Given the description of an element on the screen output the (x, y) to click on. 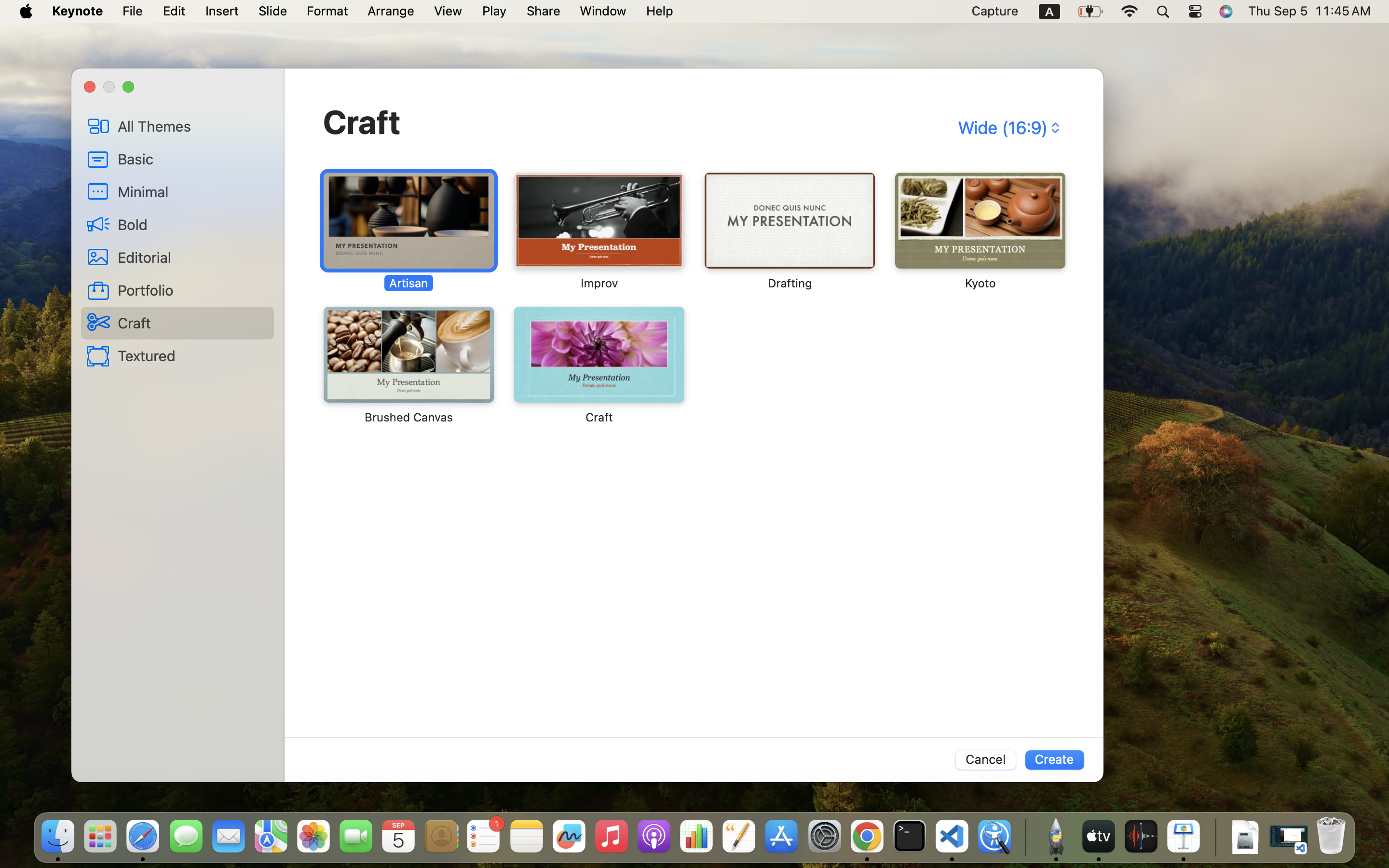
Bold Element type: AXStaticText (191, 224)
Wide (16:9) Element type: AXPopUpButton (1007, 127)
Craft Element type: AXStaticText (362, 121)
Minimal Element type: AXStaticText (191, 191)
All Themes Element type: AXStaticText (191, 125)
